Given the description of an element on the screen output the (x, y) to click on. 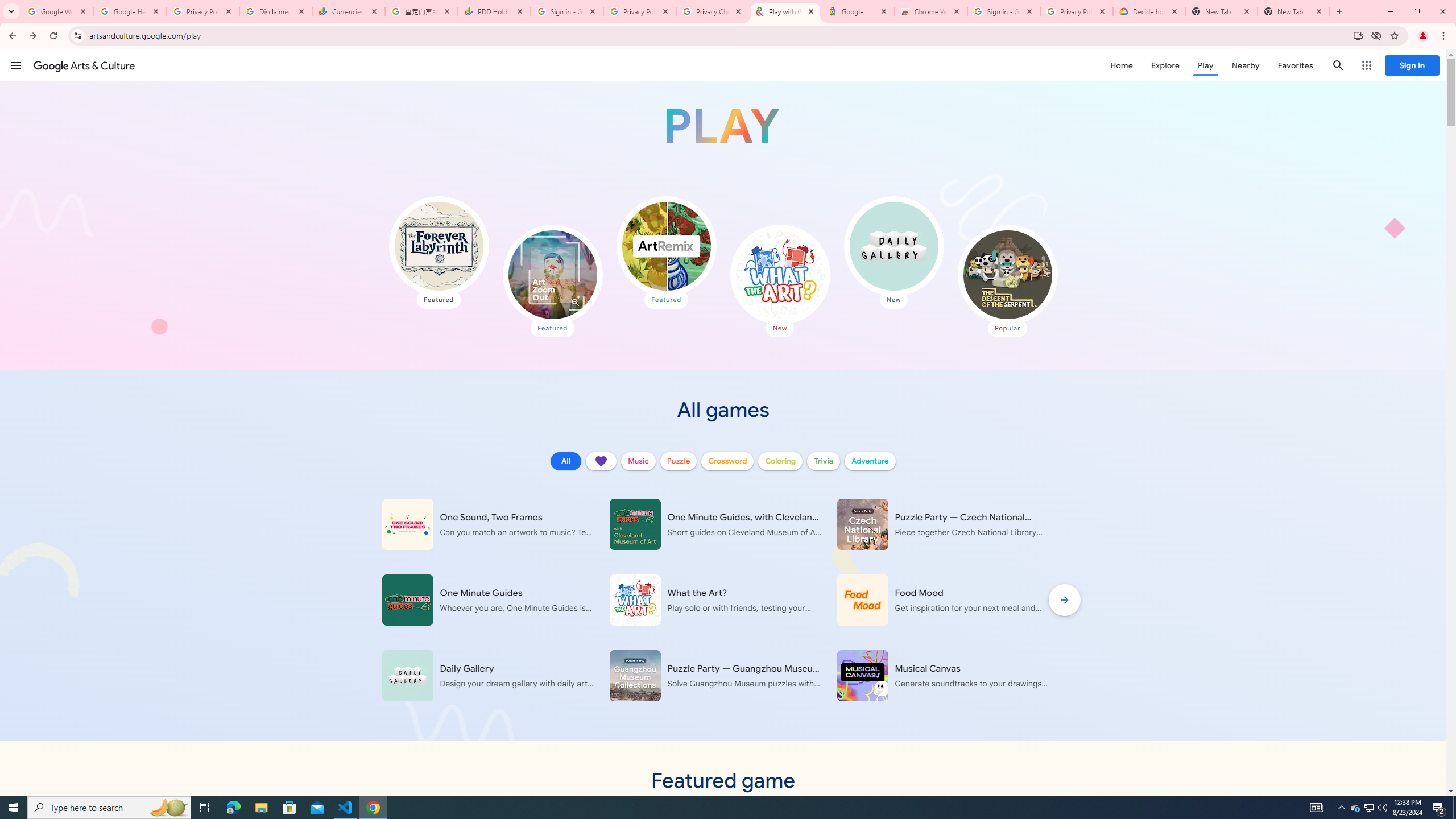
Nearby (1244, 65)
Privacy Checkup (712, 11)
Play (1205, 65)
Play with Google Arts & Culture (722, 126)
Menu (15, 65)
Explore (1164, 65)
What the Art? (779, 274)
